Given the description of an element on the screen output the (x, y) to click on. 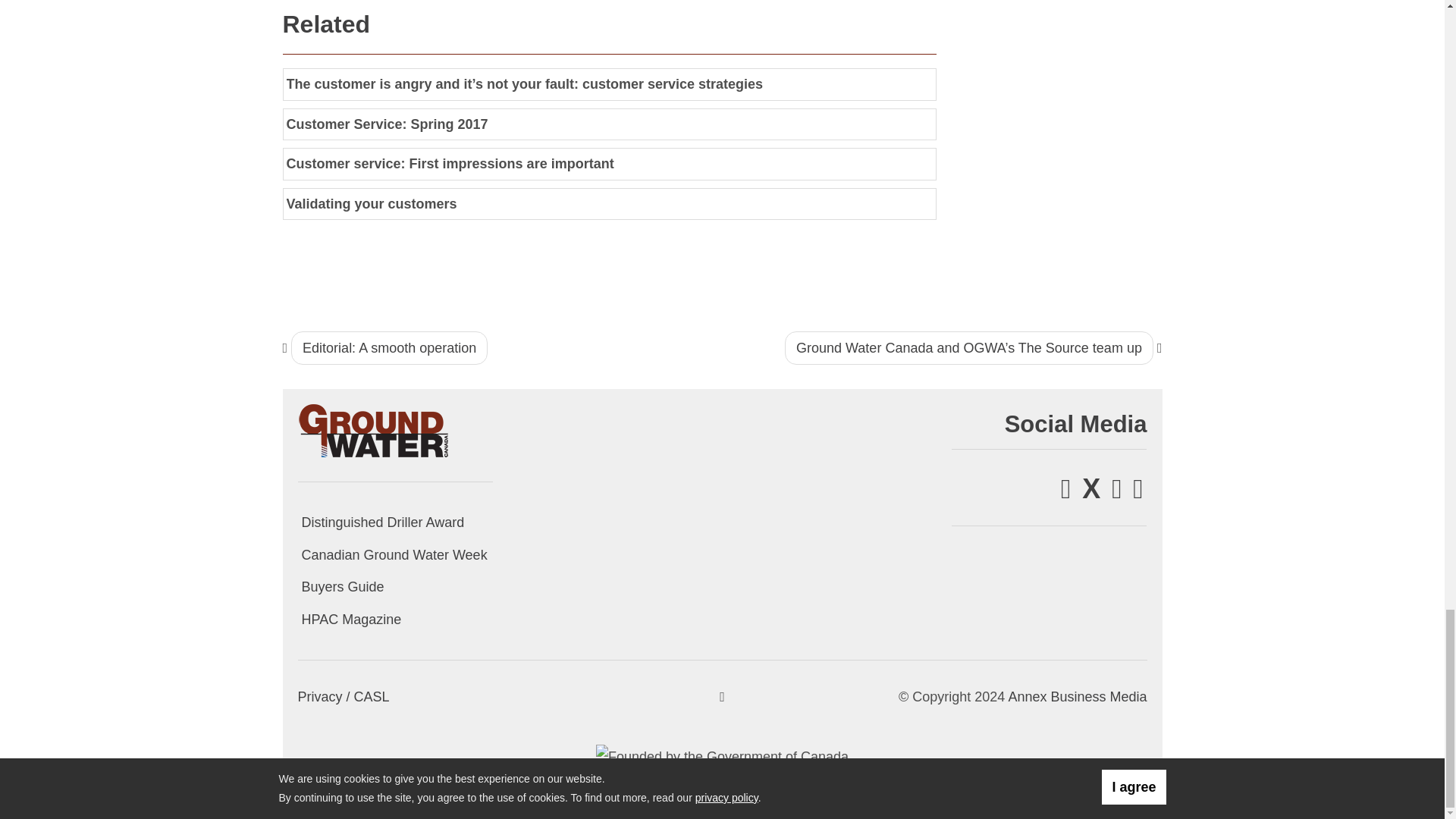
Ground Water Canada (373, 429)
Annex Business Media (1077, 696)
